Given the description of an element on the screen output the (x, y) to click on. 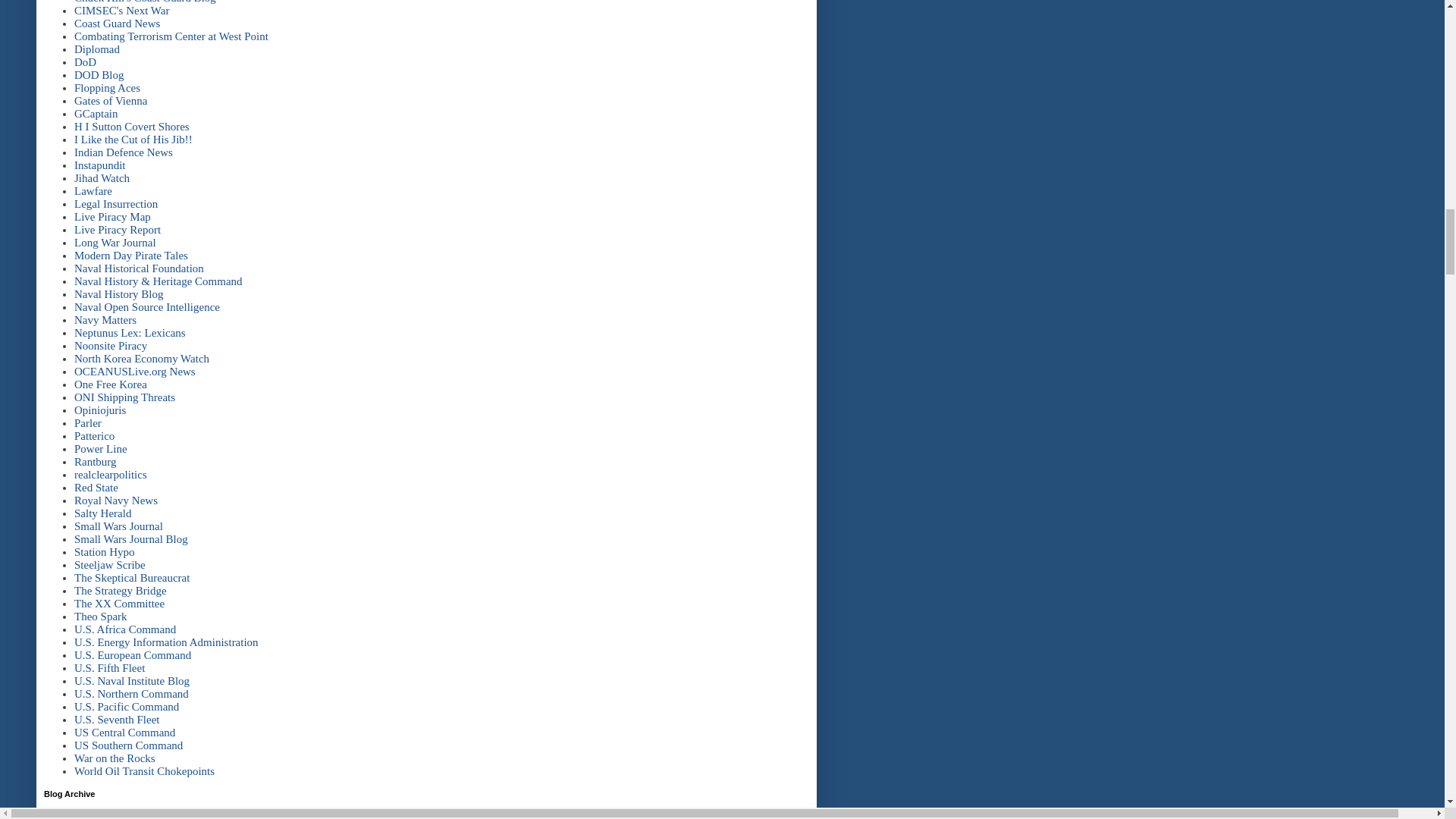
Flopping Aces (106, 87)
Combating Terrorism Center at West Point (170, 36)
Coast Guard News (117, 23)
GCaptain (95, 113)
CIMSEC's Next War (121, 10)
Chuck Hill's Coast Guard Blog (144, 2)
DOD Blog (98, 74)
DoD (85, 61)
Gates of Vienna (110, 101)
Diplomad (96, 49)
H I Sutton Covert Shores (131, 126)
